Given the description of an element on the screen output the (x, y) to click on. 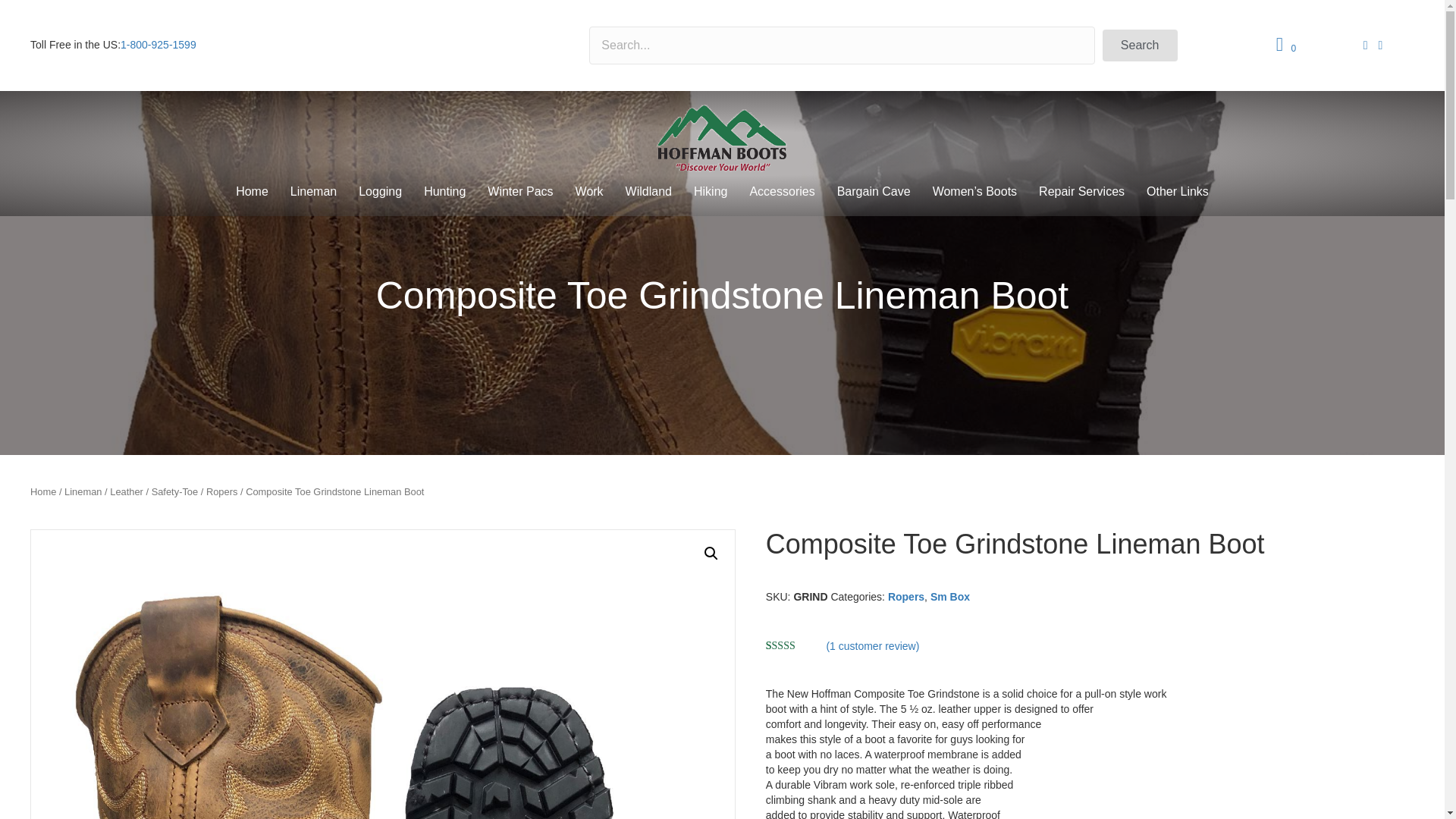
Lineman (313, 191)
Search (1139, 45)
Logging (379, 191)
Hoffman Boots - Logo (721, 138)
Click Here (1139, 45)
Home (252, 191)
0 (1288, 45)
Hunting (444, 191)
1-800-925-1599 (158, 44)
